Given the description of an element on the screen output the (x, y) to click on. 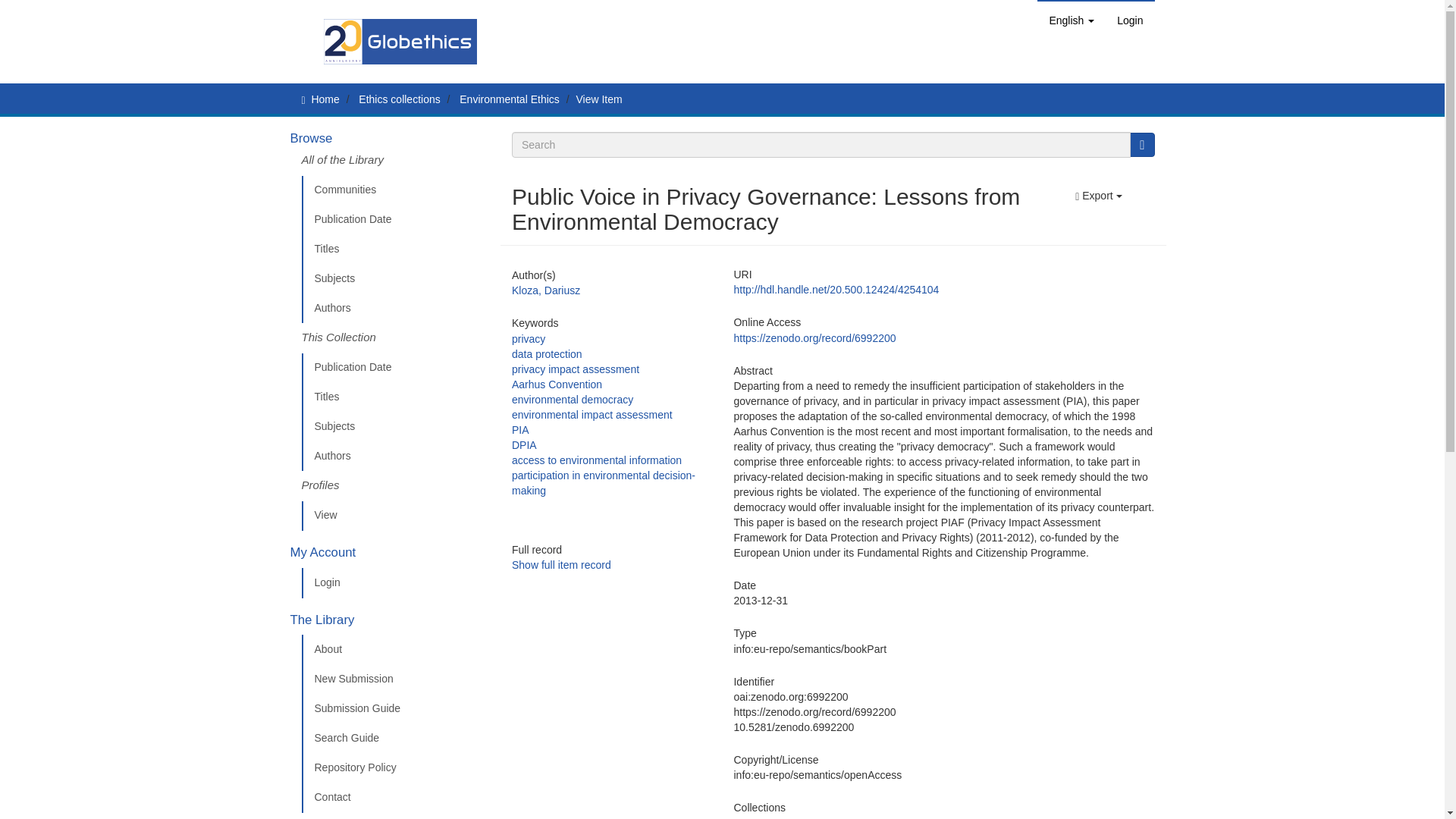
Publication Date (395, 219)
This Collection (395, 337)
Authors (395, 308)
Go (1141, 144)
Home (325, 99)
All of the Library (395, 164)
Login (1129, 19)
Communities (395, 190)
English  (1070, 19)
Titles (395, 249)
